Given the description of an element on the screen output the (x, y) to click on. 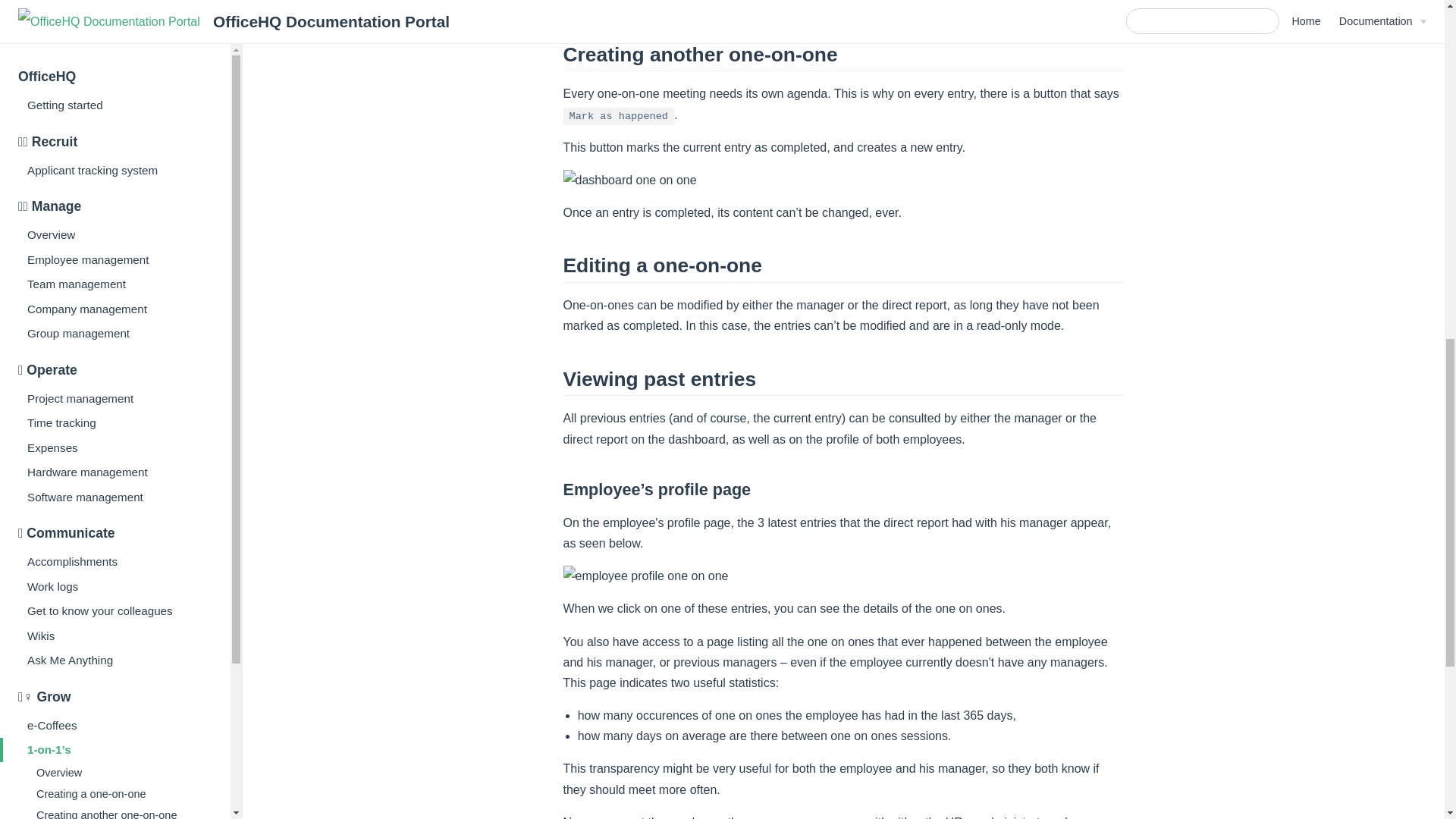
Creating another one-on-one (120, 3)
Editing a one-on-one (120, 17)
